Given the description of an element on the screen output the (x, y) to click on. 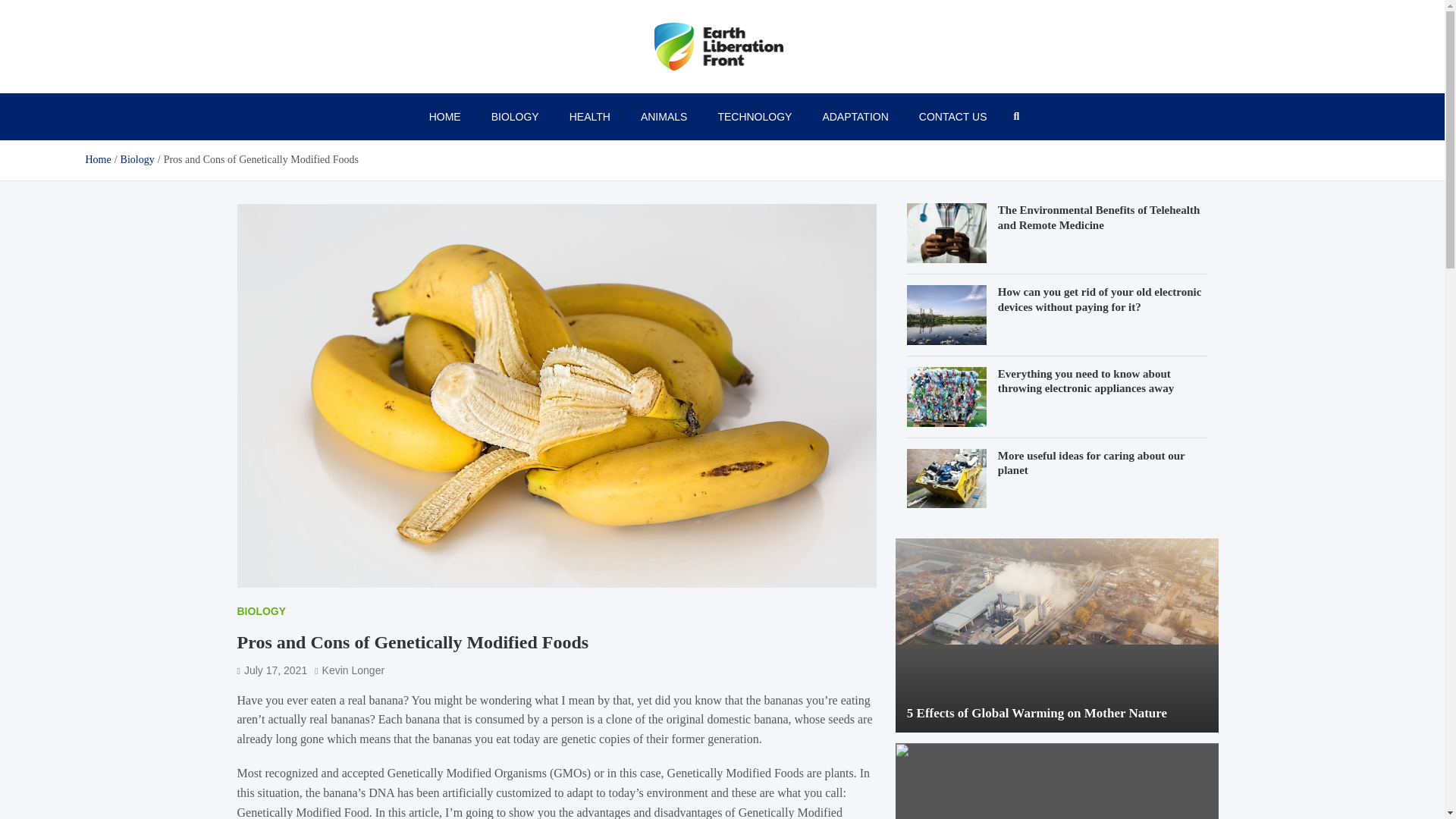
Biology (137, 159)
BIOLOGY (260, 610)
Home (97, 159)
5 Effects of Global Warming on Mother Nature (1037, 712)
HEALTH (590, 116)
Pros and Cons of Genetically Modified Foods (271, 670)
HOME (444, 116)
CONTACT US (953, 116)
